Given the description of an element on the screen output the (x, y) to click on. 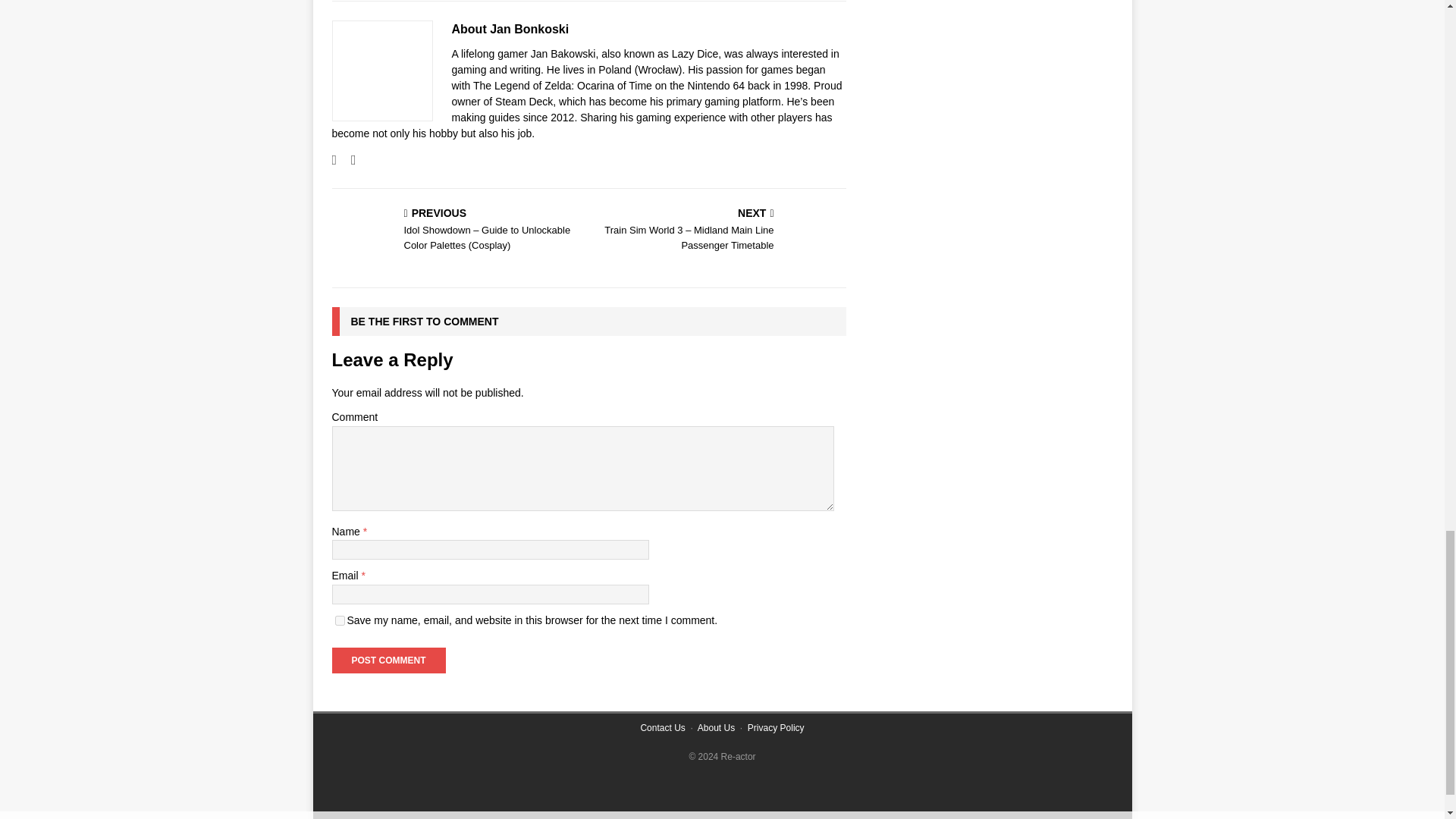
Contact Us (662, 727)
Visit the website of Jan Bonkoski (334, 160)
yes (339, 620)
Post Comment (388, 660)
Privacy Policy (776, 727)
About Us (716, 727)
Follow Jan Bonkoski on Twitter (347, 160)
Post Comment (388, 660)
